Given the description of an element on the screen output the (x, y) to click on. 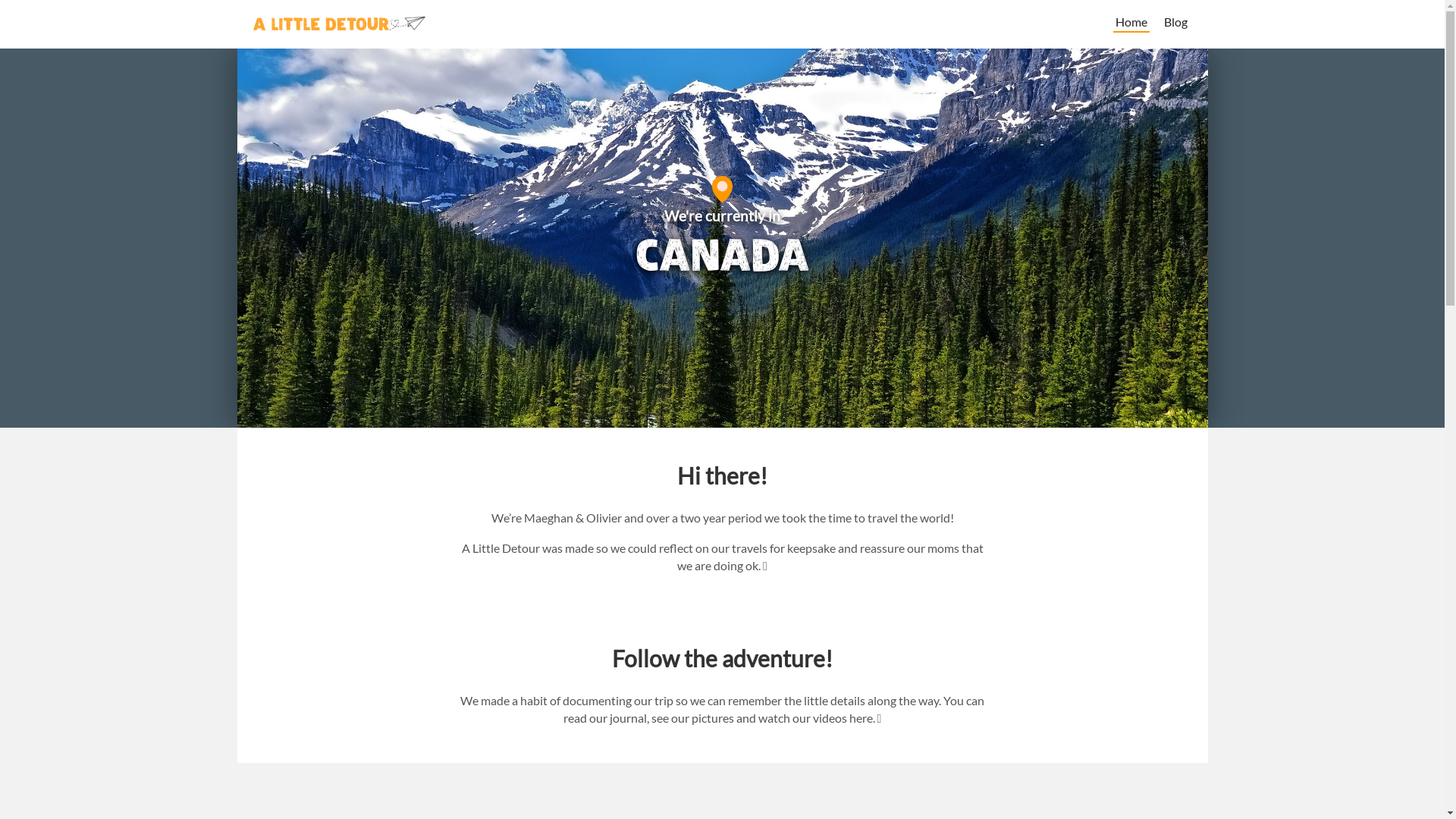
Blog Element type: text (1175, 23)
Home Element type: text (1131, 23)
